Given the description of an element on the screen output the (x, y) to click on. 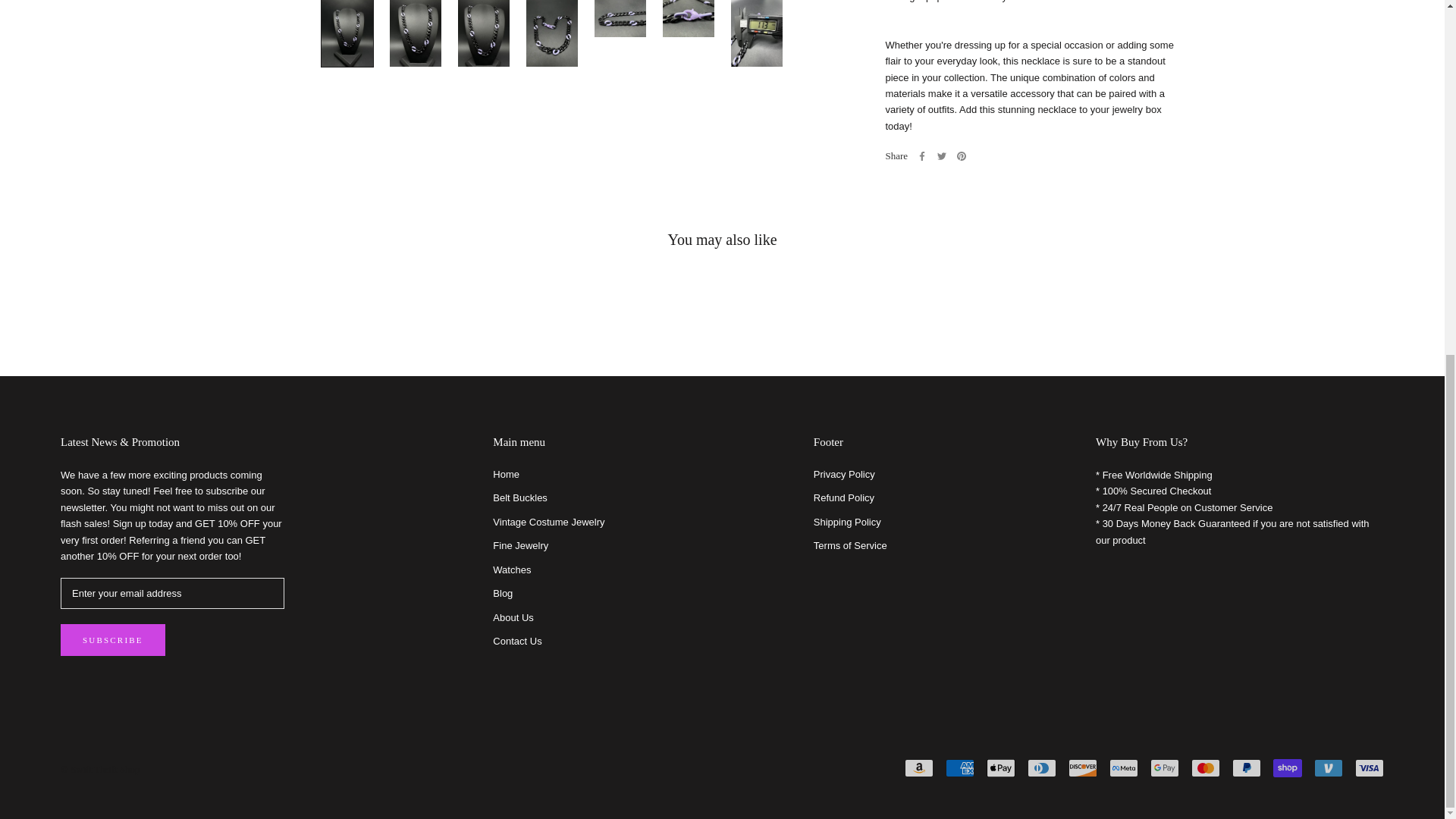
Google Pay (1164, 768)
Apple Pay (1000, 768)
PayPal (1245, 768)
Venmo (1328, 768)
Discover (1082, 768)
Amazon (918, 768)
Shop Pay (1286, 768)
American Express (959, 768)
Visa (1369, 768)
Diners Club (1042, 768)
